Given the description of an element on the screen output the (x, y) to click on. 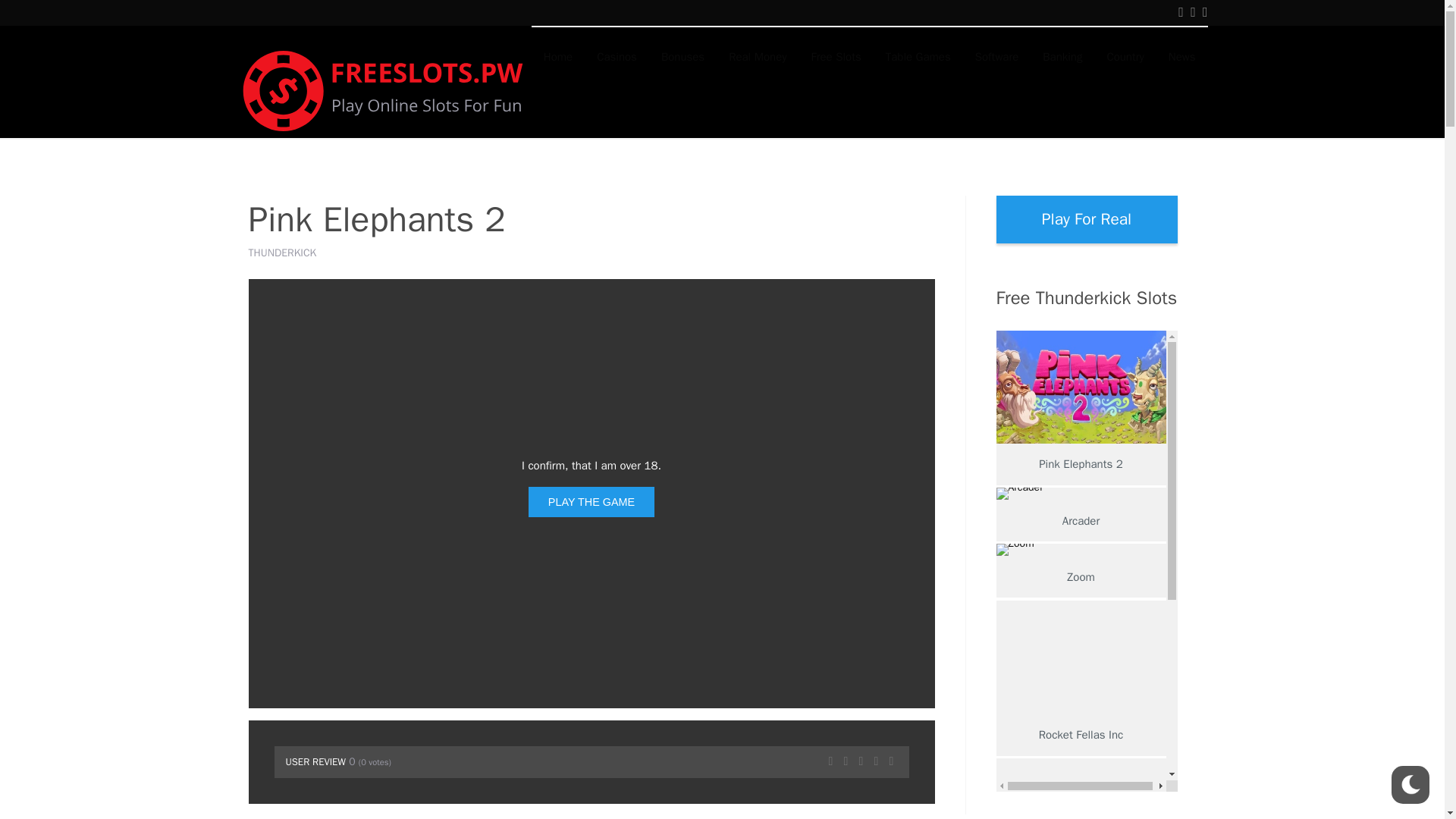
Pink Elephants 2 (1080, 386)
Software (996, 56)
Casinos (617, 56)
Table Games (917, 56)
Arcader (1080, 493)
Zoom (1080, 549)
Free Slots (836, 56)
Bonuses (682, 56)
Rocket fellas inc (1080, 657)
Divine lotus (1080, 788)
